Given the description of an element on the screen output the (x, y) to click on. 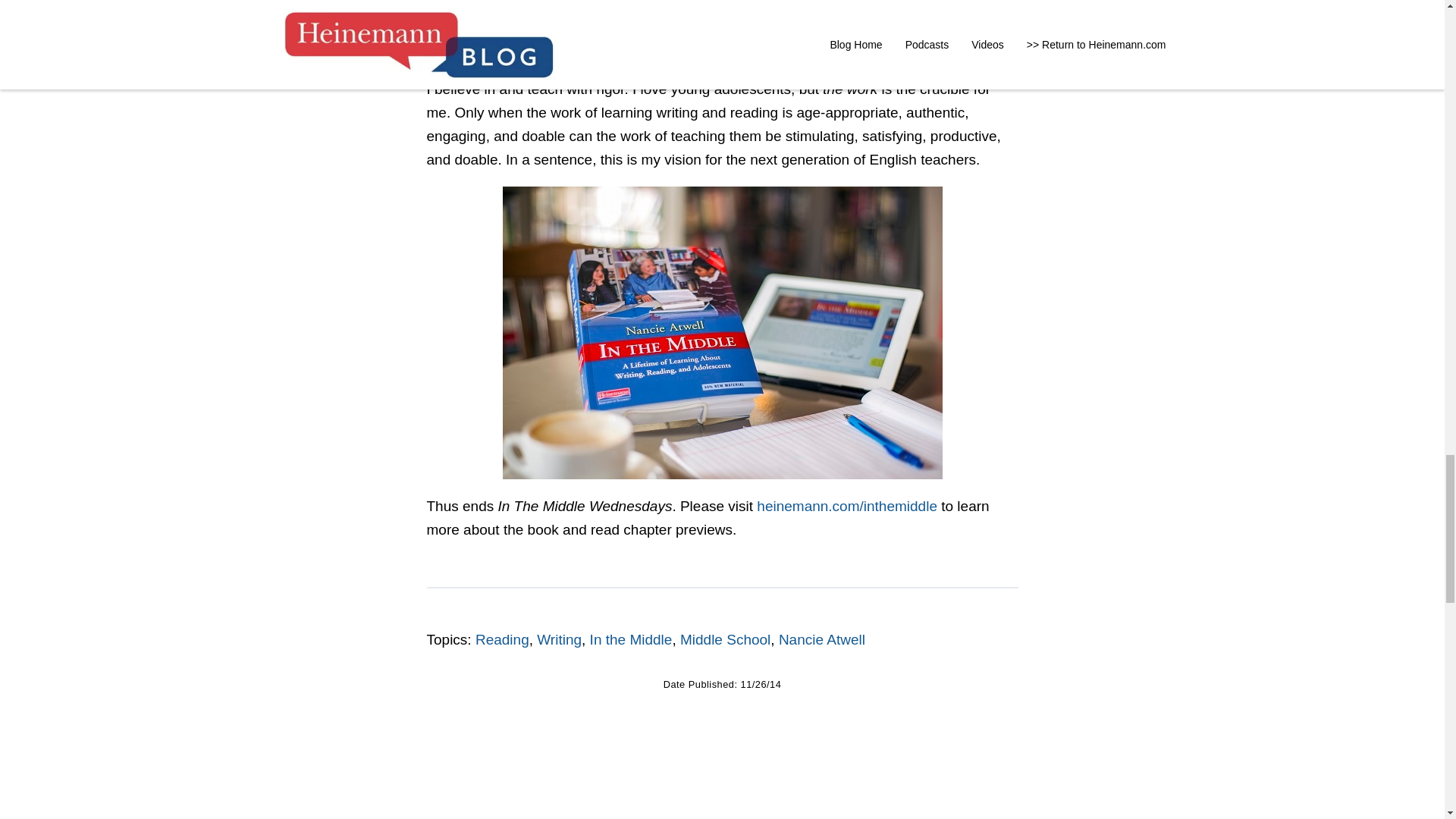
In the Middle (630, 639)
Reading (502, 639)
Middle School (724, 639)
Nancie Atwell (821, 639)
Writing (558, 639)
